Given the description of an element on the screen output the (x, y) to click on. 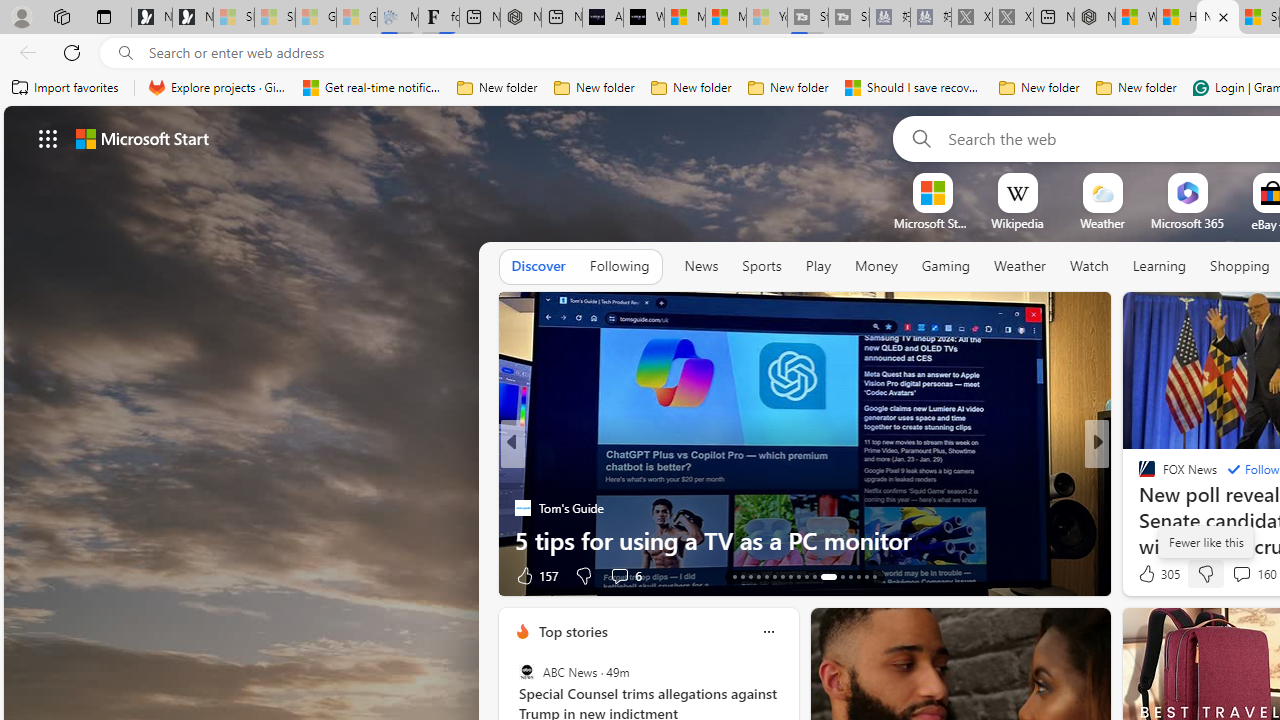
157 Like (535, 574)
Tom's Guide (522, 507)
Cents + Purpose (1138, 507)
New folder (1136, 88)
View comments 6 Comment (625, 574)
Microsoft Start Sports (684, 17)
Nordace - My Account (1094, 17)
What's the best AI voice generator? - voice.ai (643, 17)
Wildlife - MSN (1135, 17)
Microsoft Start (726, 17)
Close tab (1222, 16)
Watch (1089, 265)
Streaming Coverage | T3 - Sleeping (808, 17)
Import favorites (65, 88)
New tab (1217, 17)
